Given the description of an element on the screen output the (x, y) to click on. 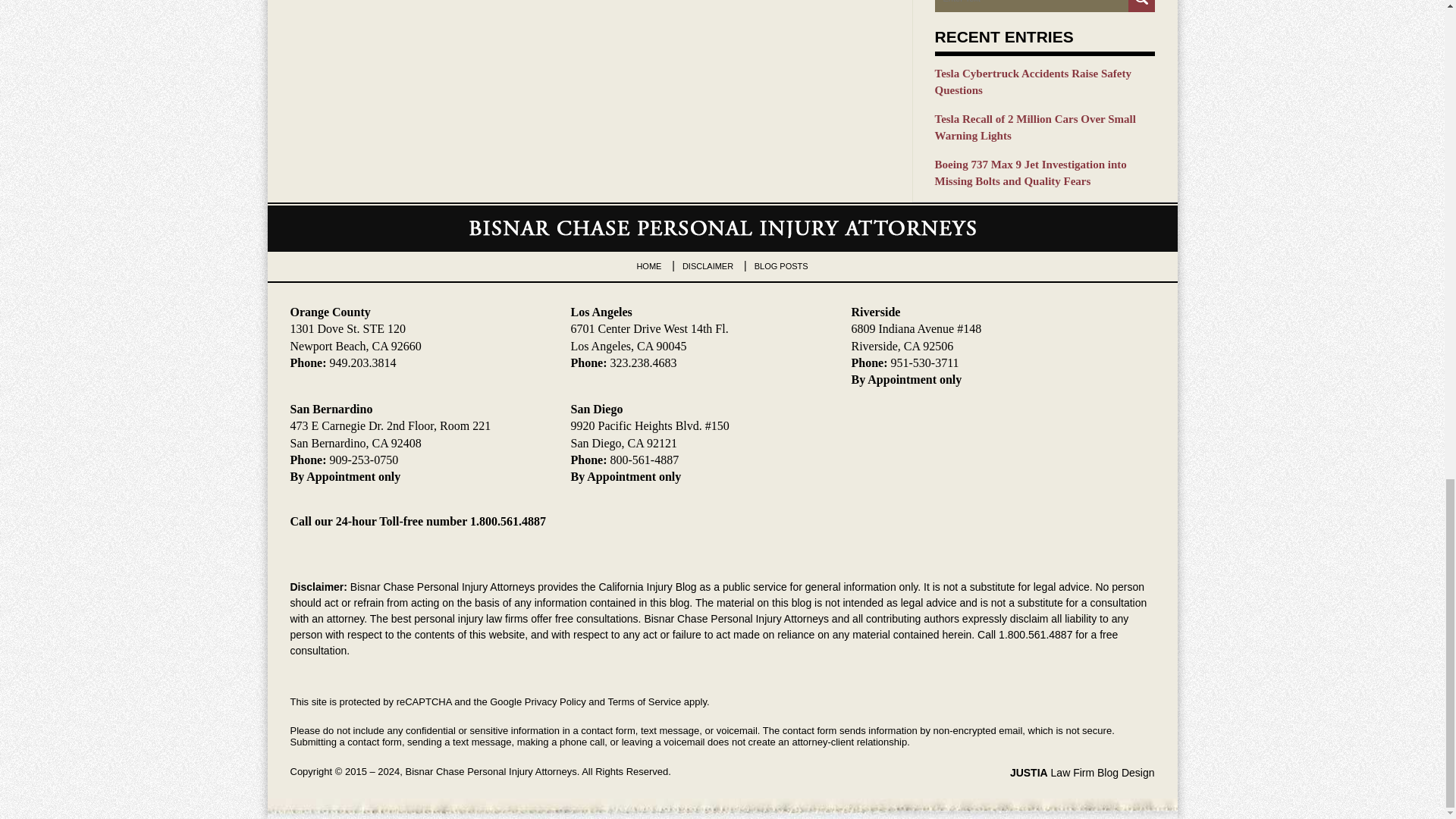
Tesla Cybertruck Accidents Raise Safety Questions (1044, 82)
Tesla Recall of 2 Million Cars Over Small Warning Lights (1044, 127)
SEARCH (1141, 6)
